Given the description of an element on the screen output the (x, y) to click on. 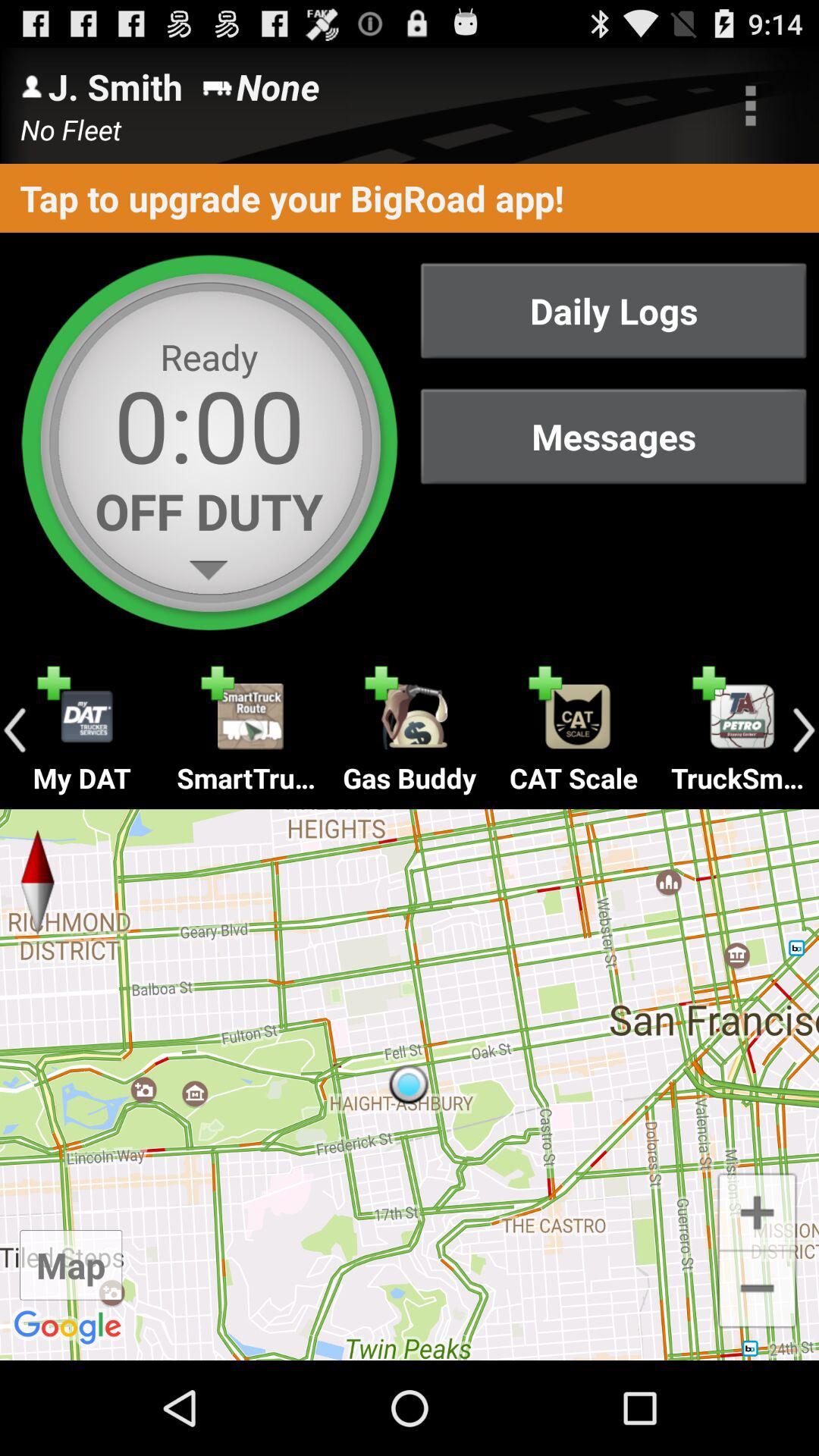
turn on app at the top (409, 197)
